Given the description of an element on the screen output the (x, y) to click on. 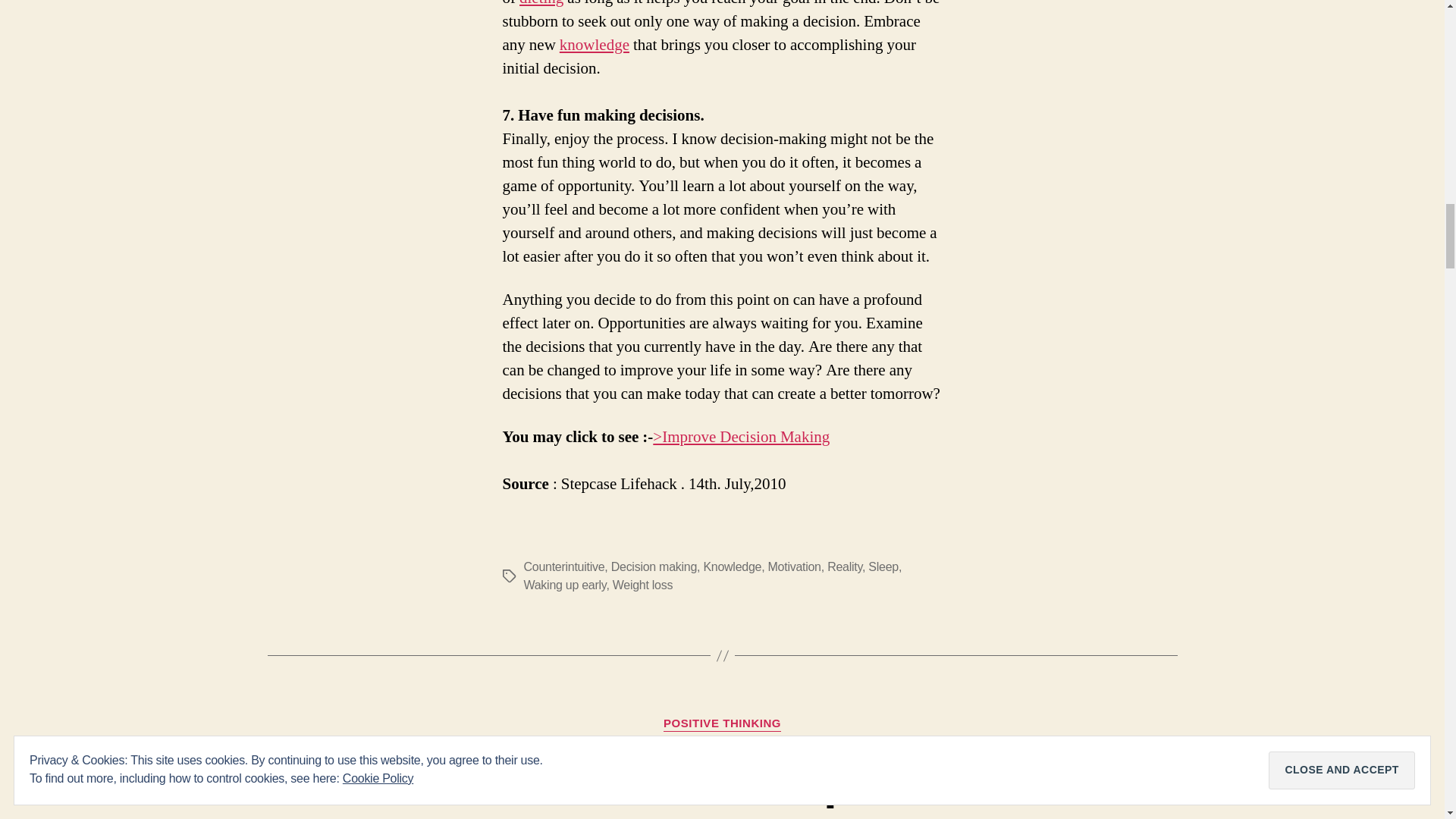
Decision making (654, 566)
dieting (541, 4)
Counterintuitive (563, 566)
knowledge (593, 45)
Knowledge (593, 45)
Motivation (794, 566)
Waking up early (563, 584)
Knowledge (732, 566)
Weight loss (642, 584)
Dieting (541, 4)
